Given the description of an element on the screen output the (x, y) to click on. 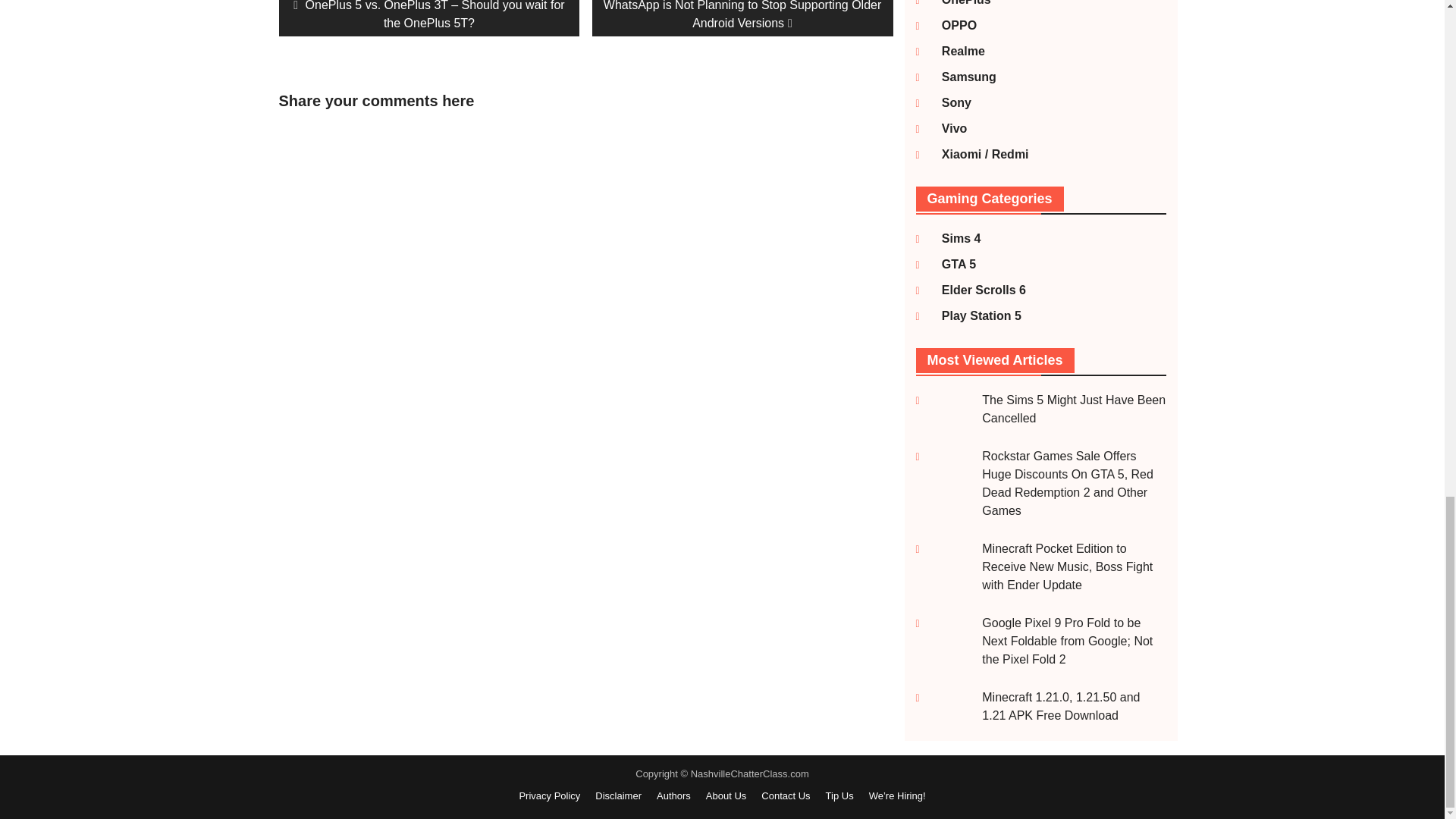
Comment Form (380, 286)
Minecraft 1.21.0, 1.21.50 and 1.21 APK Free Download (1060, 706)
The Sims 5 Might Just Have Been Cancelled (1073, 409)
